Given the description of an element on the screen output the (x, y) to click on. 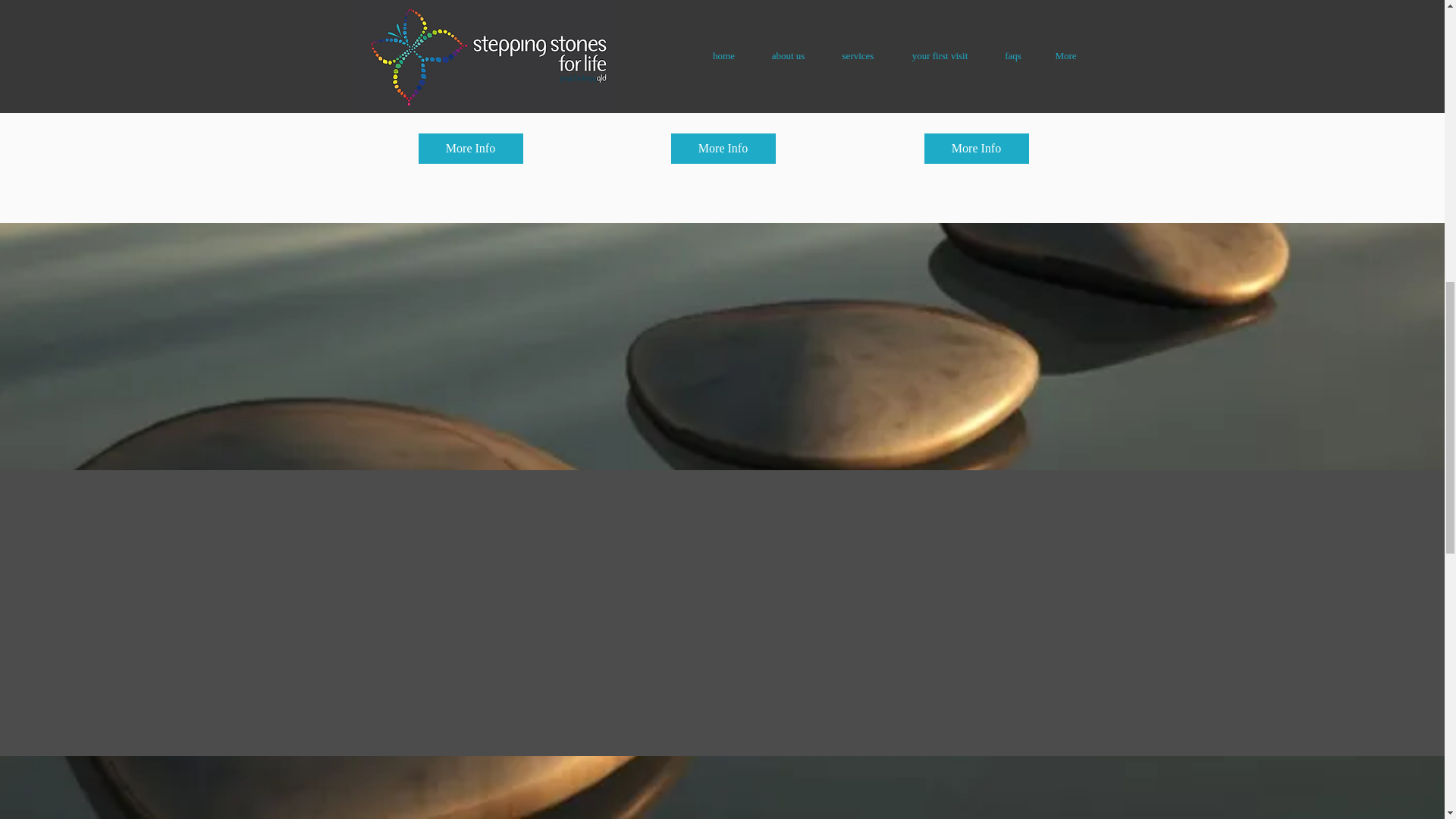
More Info (470, 148)
More Info (975, 148)
More Info (721, 148)
